Given the description of an element on the screen output the (x, y) to click on. 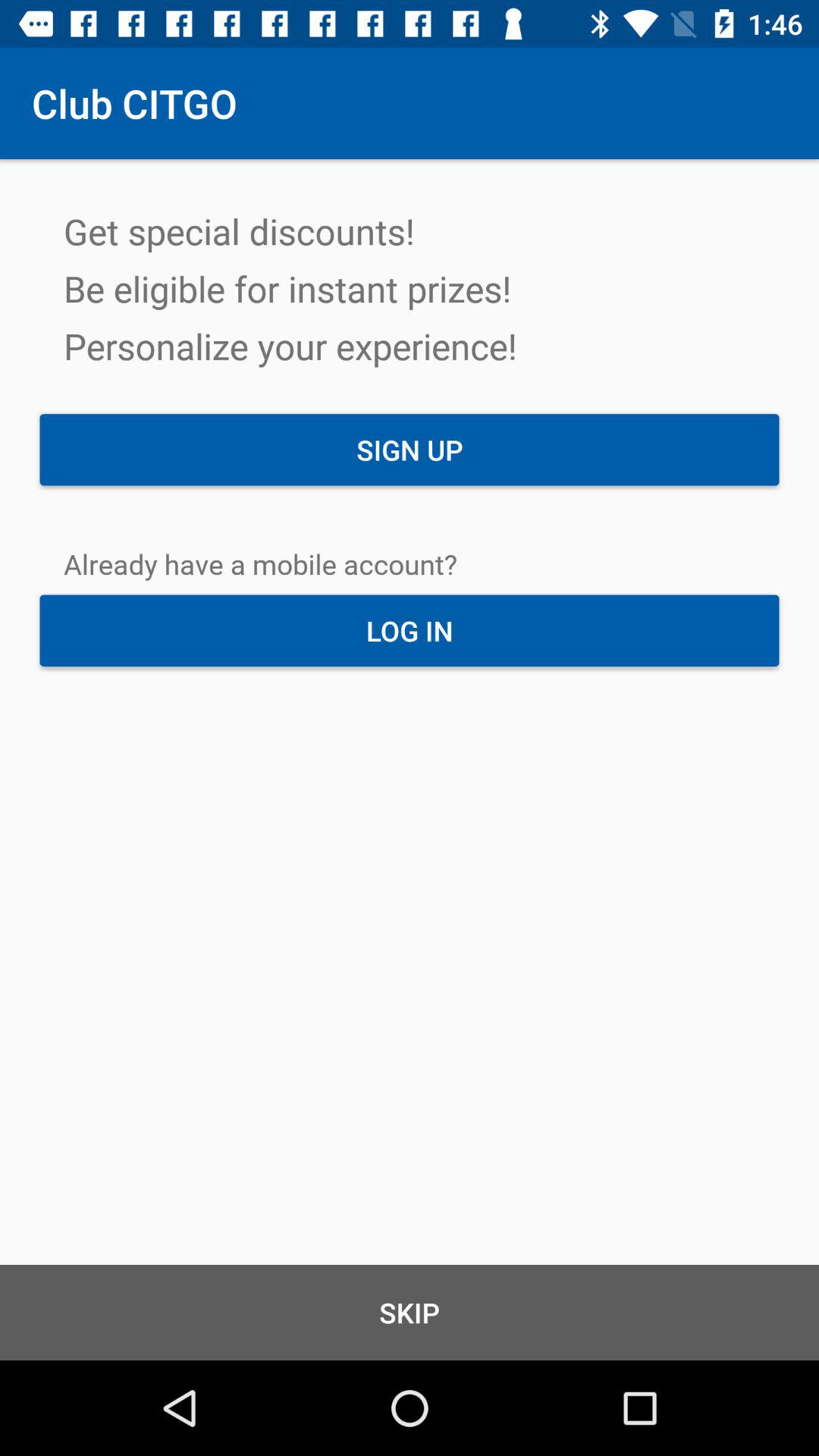
jump to log in icon (409, 630)
